Given the description of an element on the screen output the (x, y) to click on. 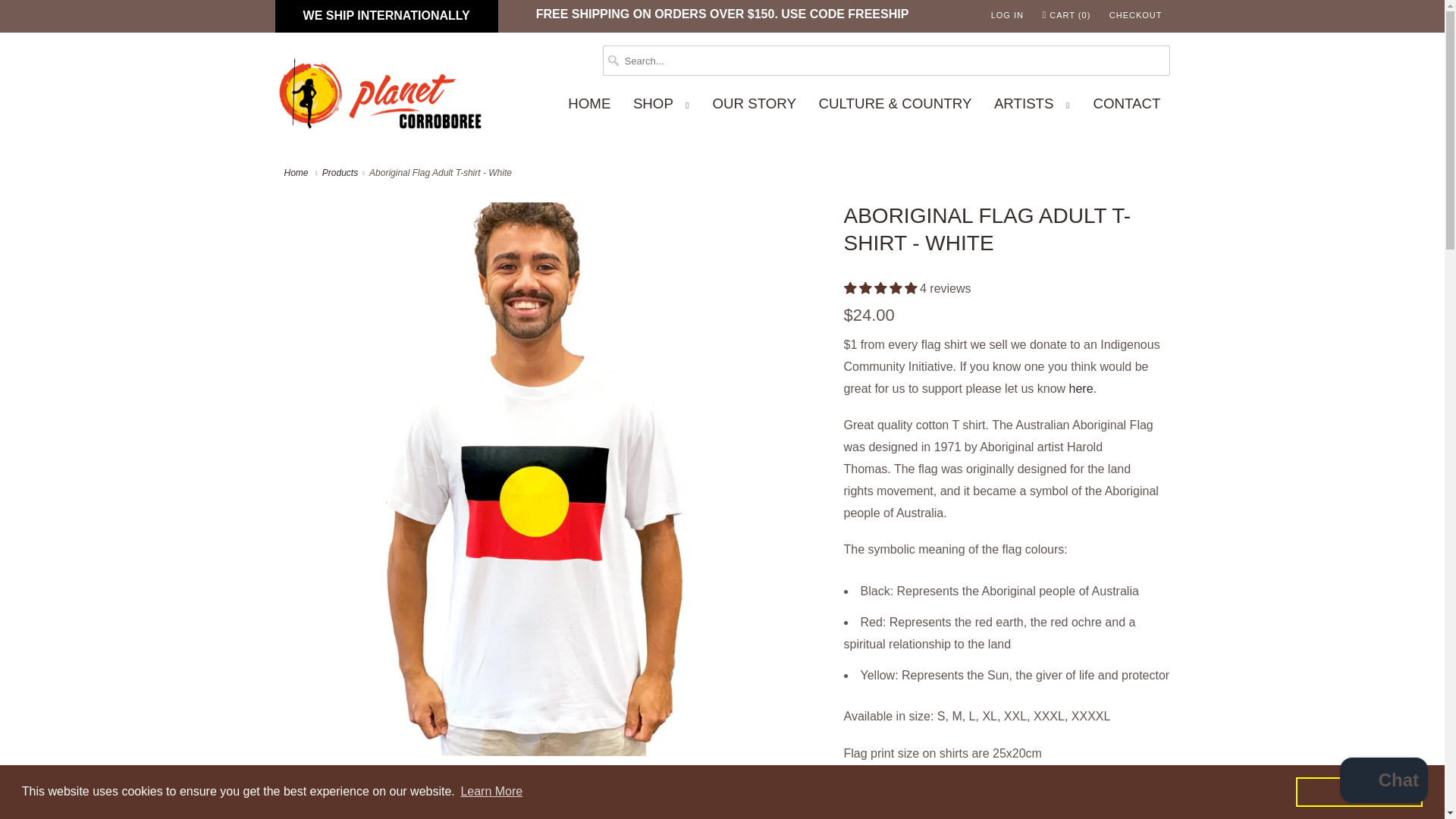
LOG IN (1007, 15)
Planet Corroboree (380, 96)
CHECKOUT (1135, 15)
Products (339, 172)
Shopify online store chat (1383, 781)
Planet Corroboree (296, 172)
Got it! (1358, 791)
Learn More (491, 791)
